Given the description of an element on the screen output the (x, y) to click on. 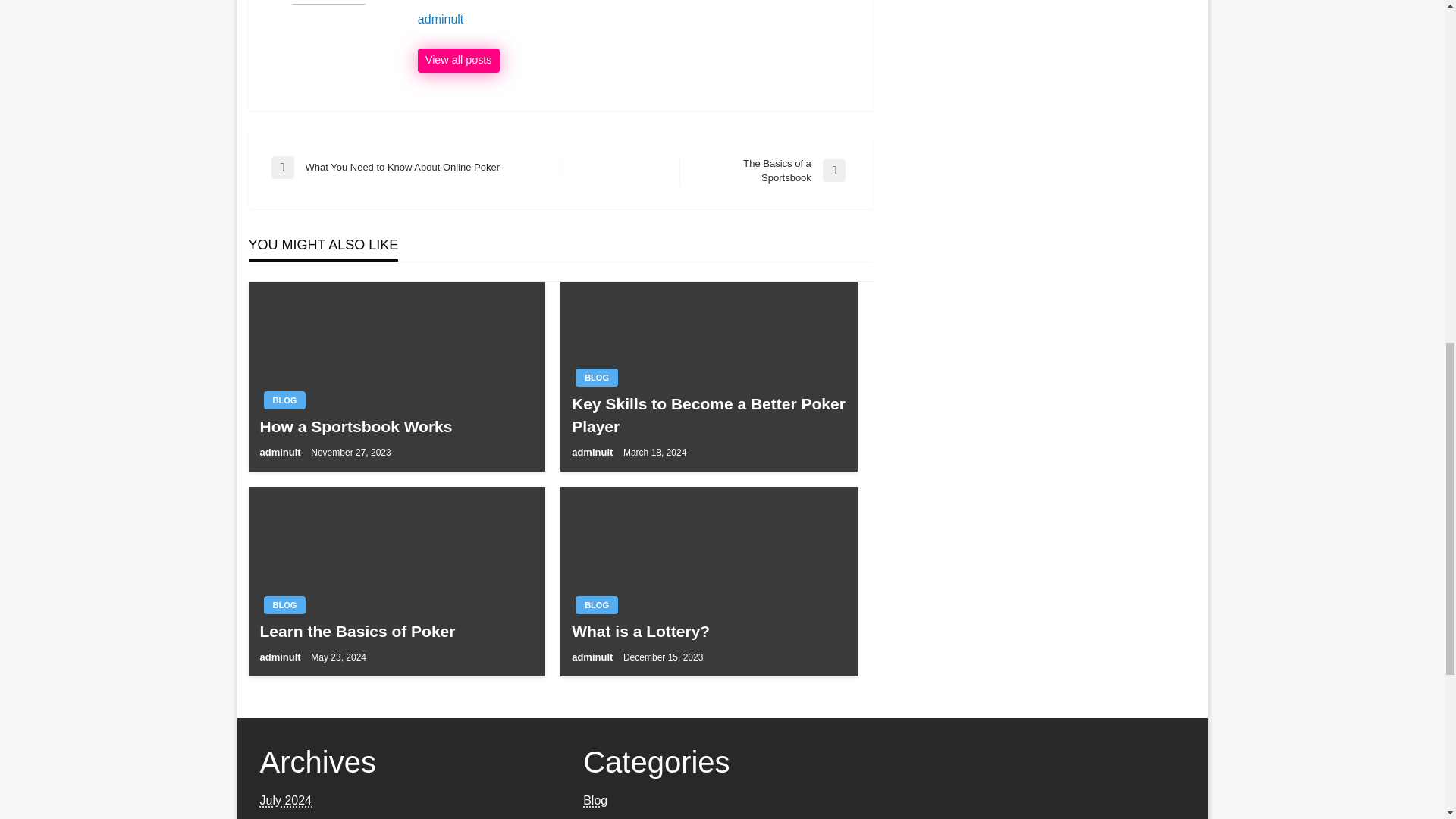
adminult (593, 656)
adminult (458, 60)
adminult (637, 19)
SBOBET Review (396, 426)
BLOG (284, 605)
BLOG (596, 377)
Improving Your Poker Skills (396, 630)
adminult (764, 170)
BLOG (280, 656)
